Given the description of an element on the screen output the (x, y) to click on. 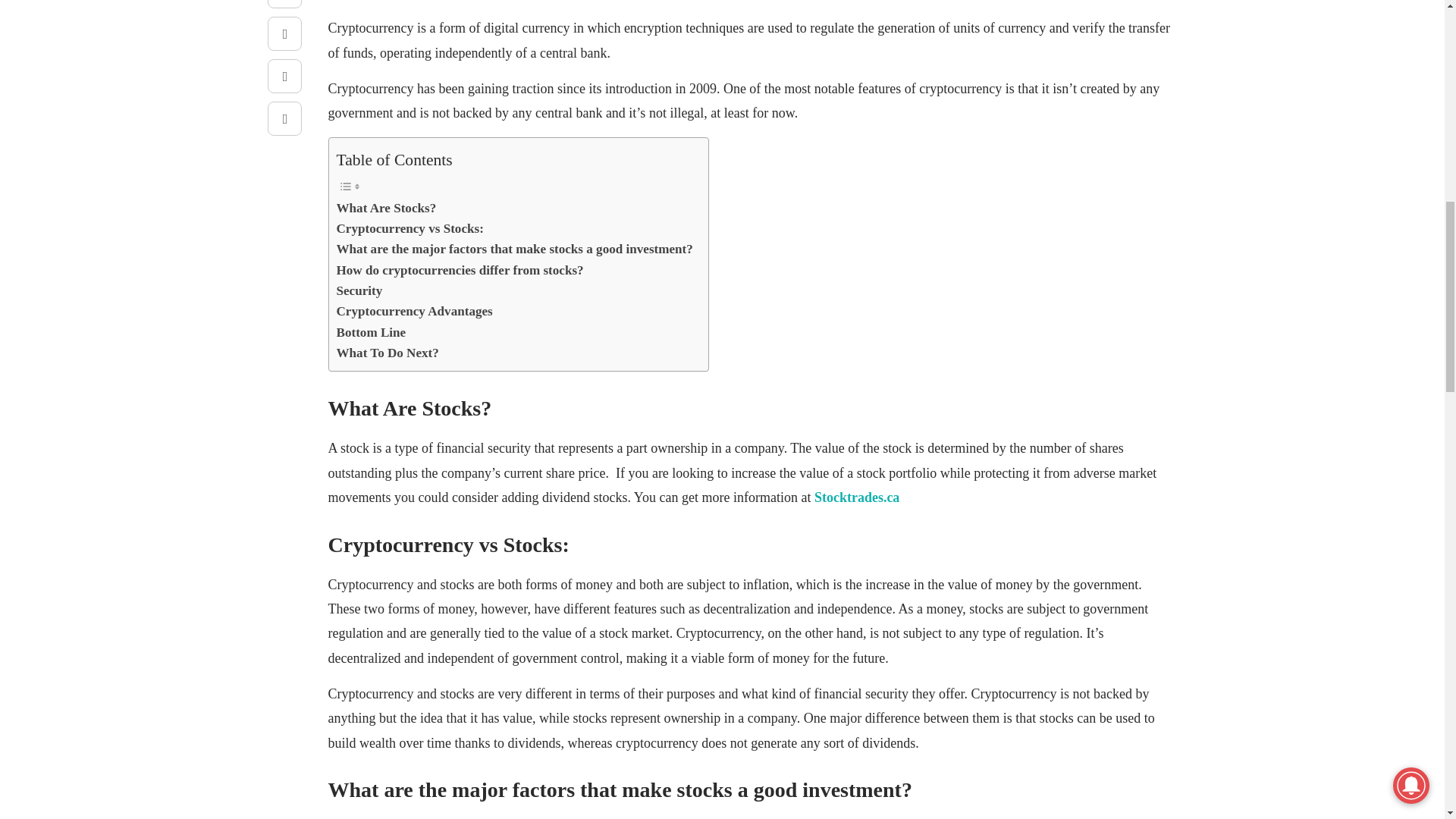
Cryptocurrency Advantages (414, 311)
Cryptocurrency vs Stocks: (409, 228)
Bottom Line (371, 332)
What To Do Next? (387, 353)
Security (359, 290)
What Are Stocks? (386, 208)
How do cryptocurrencies differ from stocks? (459, 270)
